Given the description of an element on the screen output the (x, y) to click on. 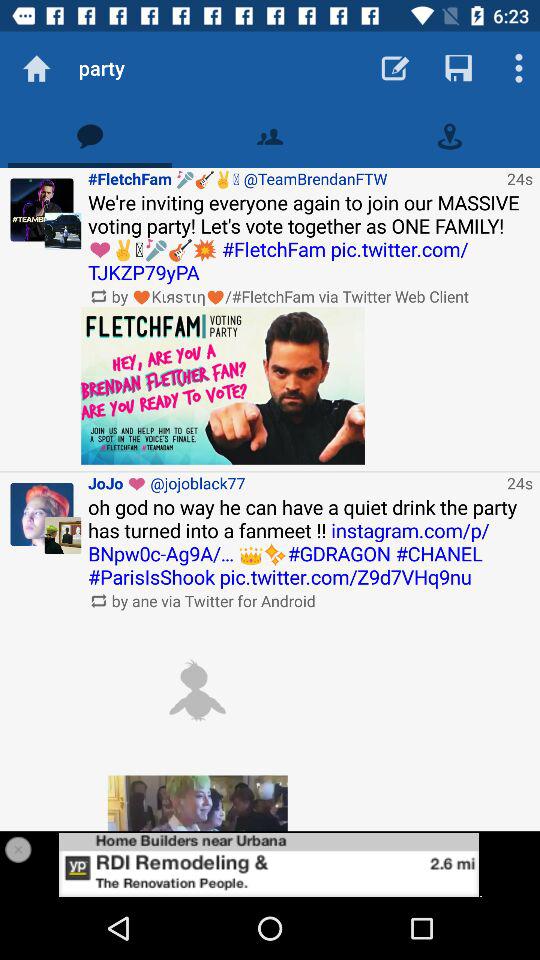
view a picture (197, 803)
